Given the description of an element on the screen output the (x, y) to click on. 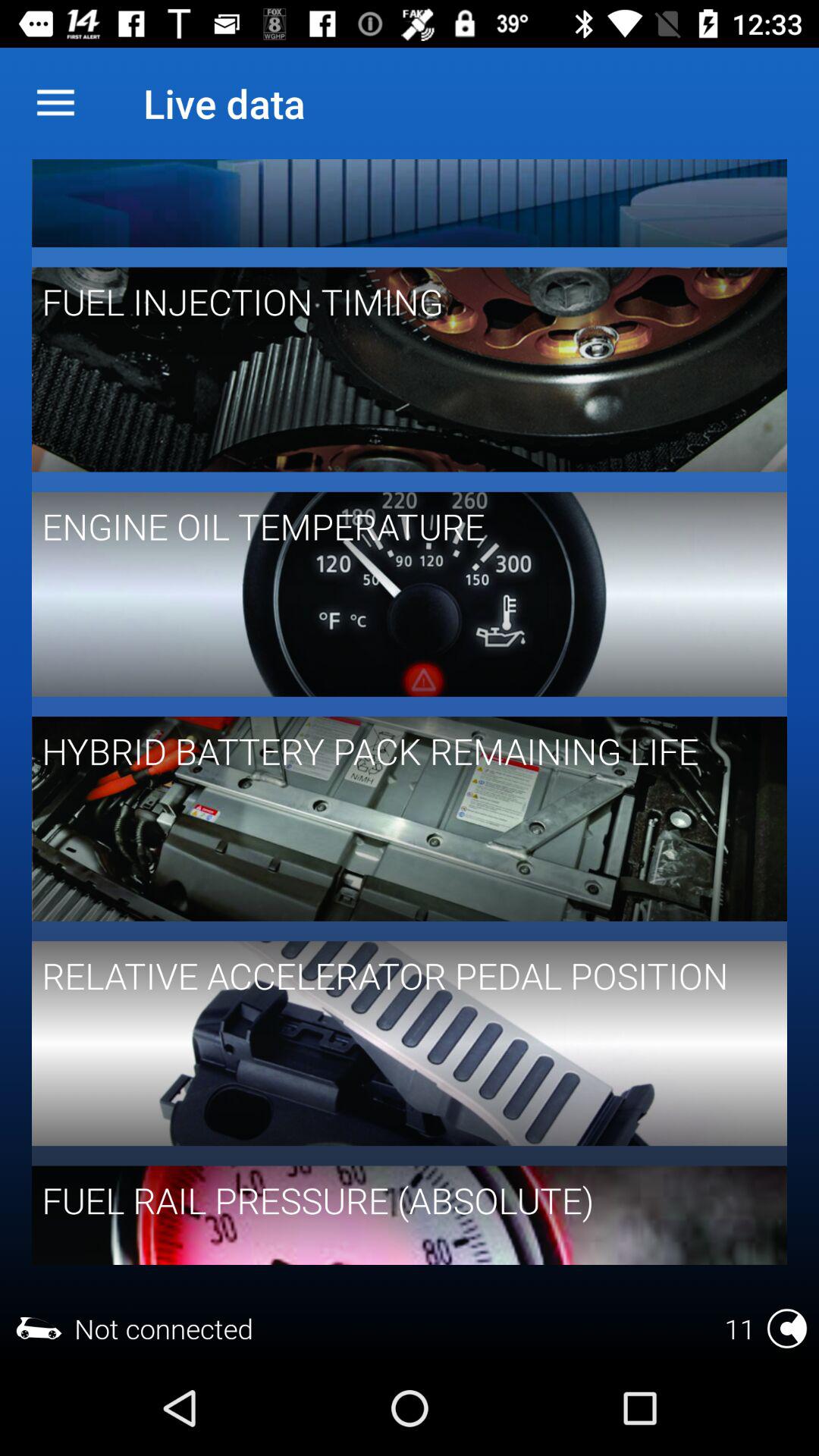
tap engine oil temperature icon (398, 525)
